Given the description of an element on the screen output the (x, y) to click on. 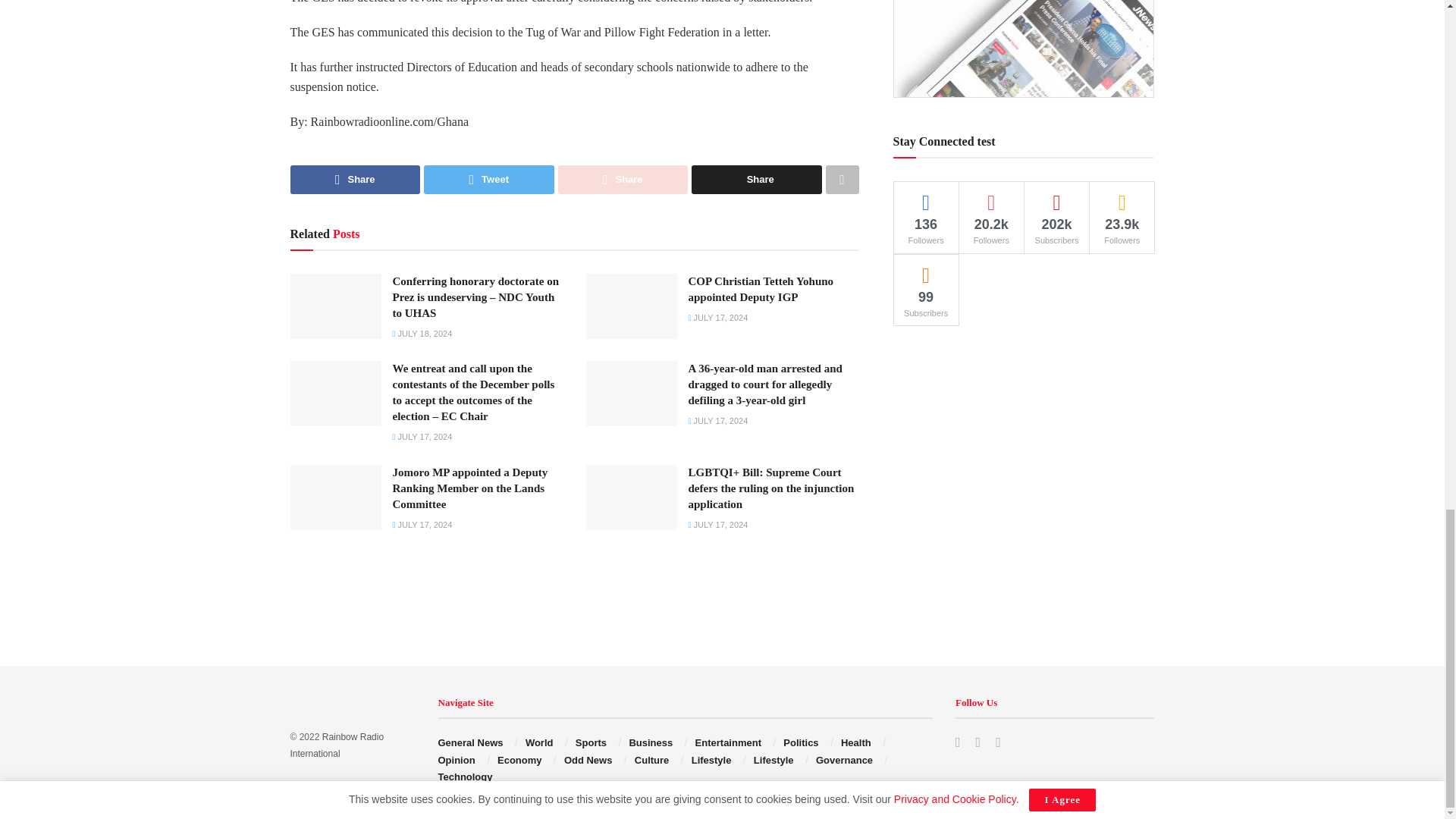
Tweet (488, 179)
Share (354, 179)
Rainbow Radio Int. (336, 745)
JULY 18, 2024 (422, 333)
Share (622, 179)
Share (756, 179)
